Given the description of an element on the screen output the (x, y) to click on. 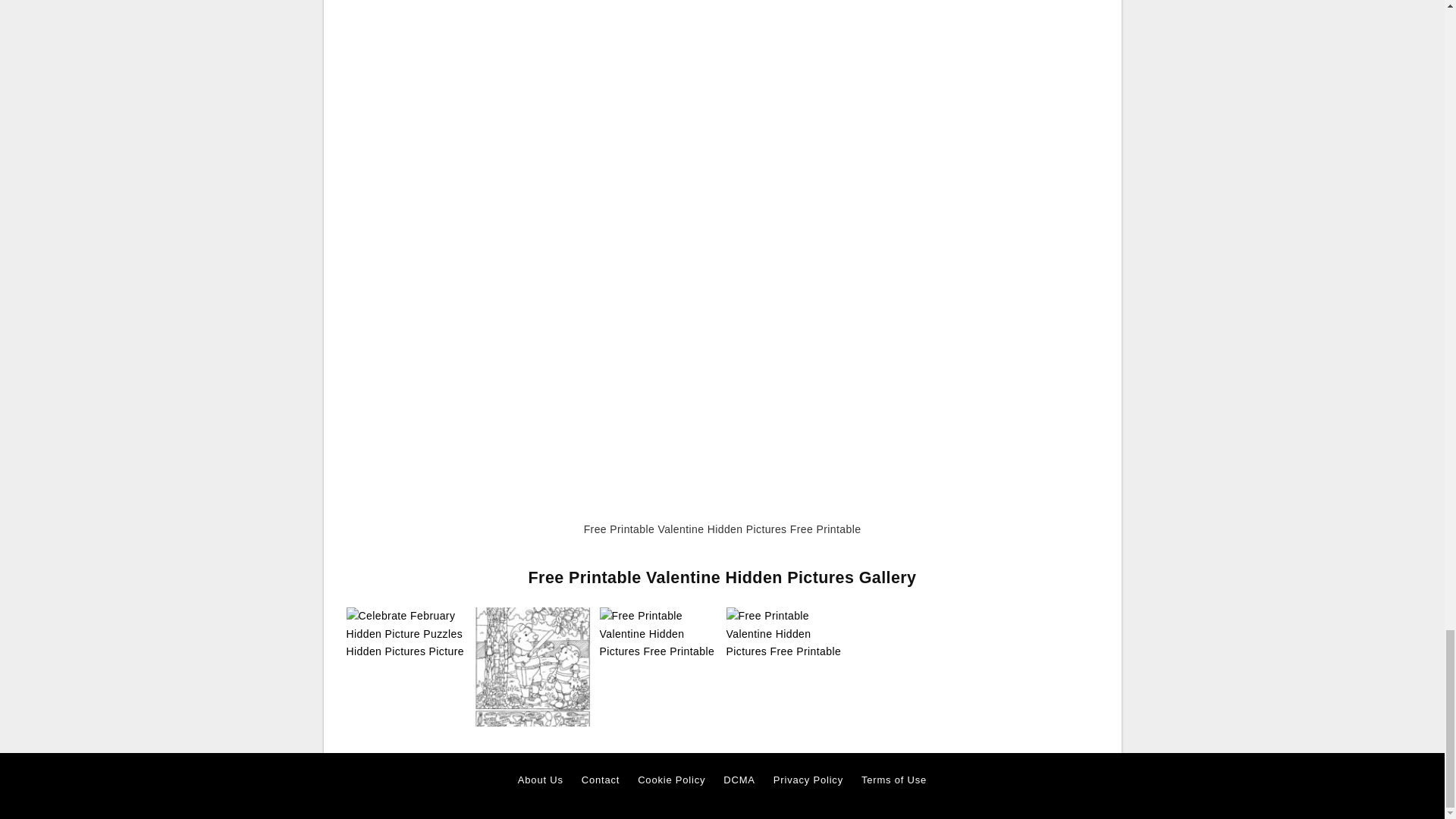
Privacy Policy (808, 780)
DCMA (738, 780)
About Us (540, 780)
Free Printable Valentine Hidden Pictures Free Printable (657, 633)
Contact (600, 780)
Cookie Policy (670, 780)
Free Printable Valentine Hidden Pictures Free Printable (532, 665)
Terms of Use (893, 780)
Free Printable Valentine Hidden Pictures Free Printable (532, 666)
Free Printable Valentine Hidden Pictures Free Printable (657, 633)
